Given the description of an element on the screen output the (x, y) to click on. 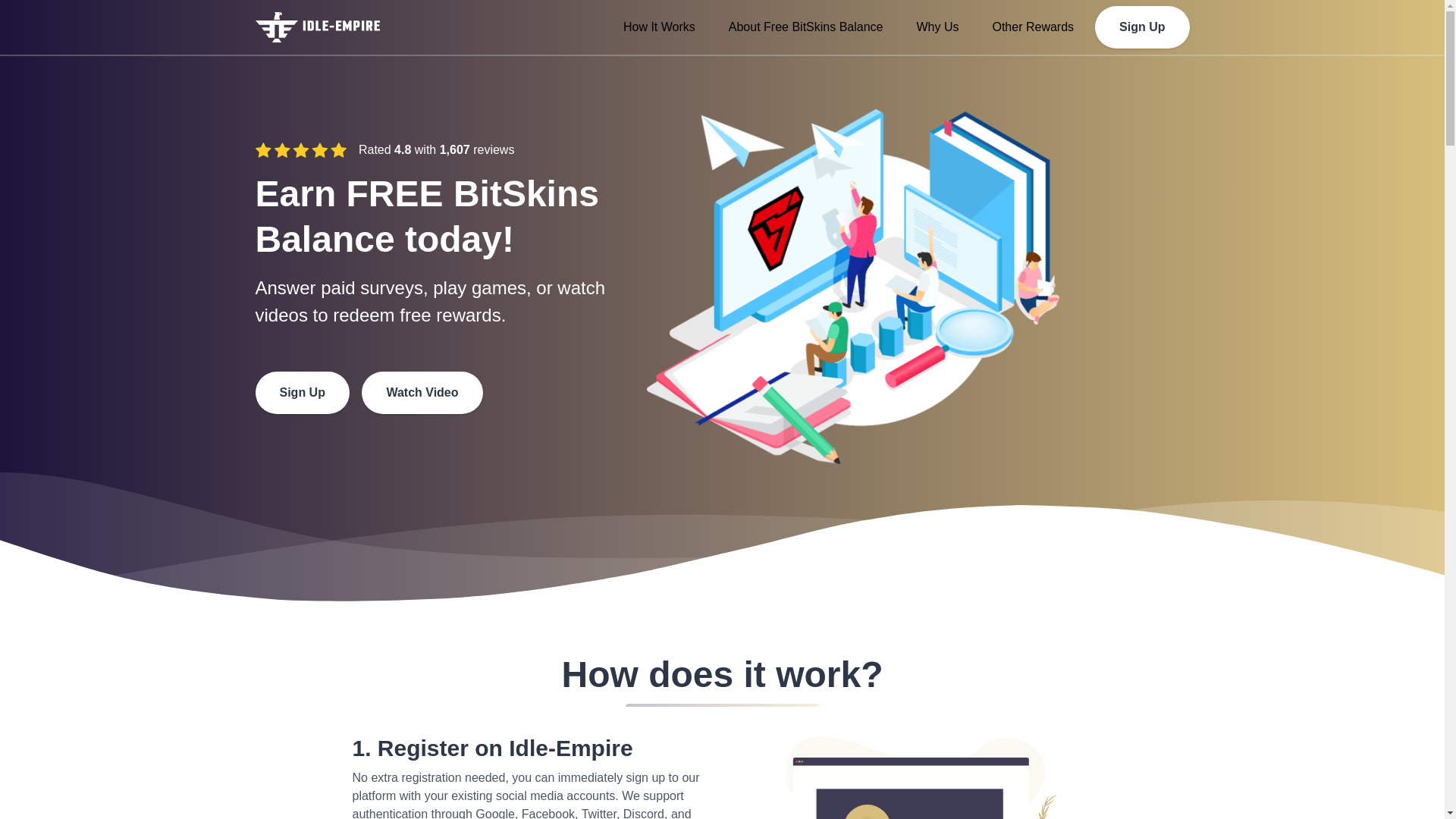
Other Rewards (1032, 27)
Watch Video (421, 392)
How It Works (659, 27)
Sign Up (301, 392)
Why Us (937, 27)
About Free BitSkins Balance (805, 27)
Sign Up (1141, 26)
